Given the description of an element on the screen output the (x, y) to click on. 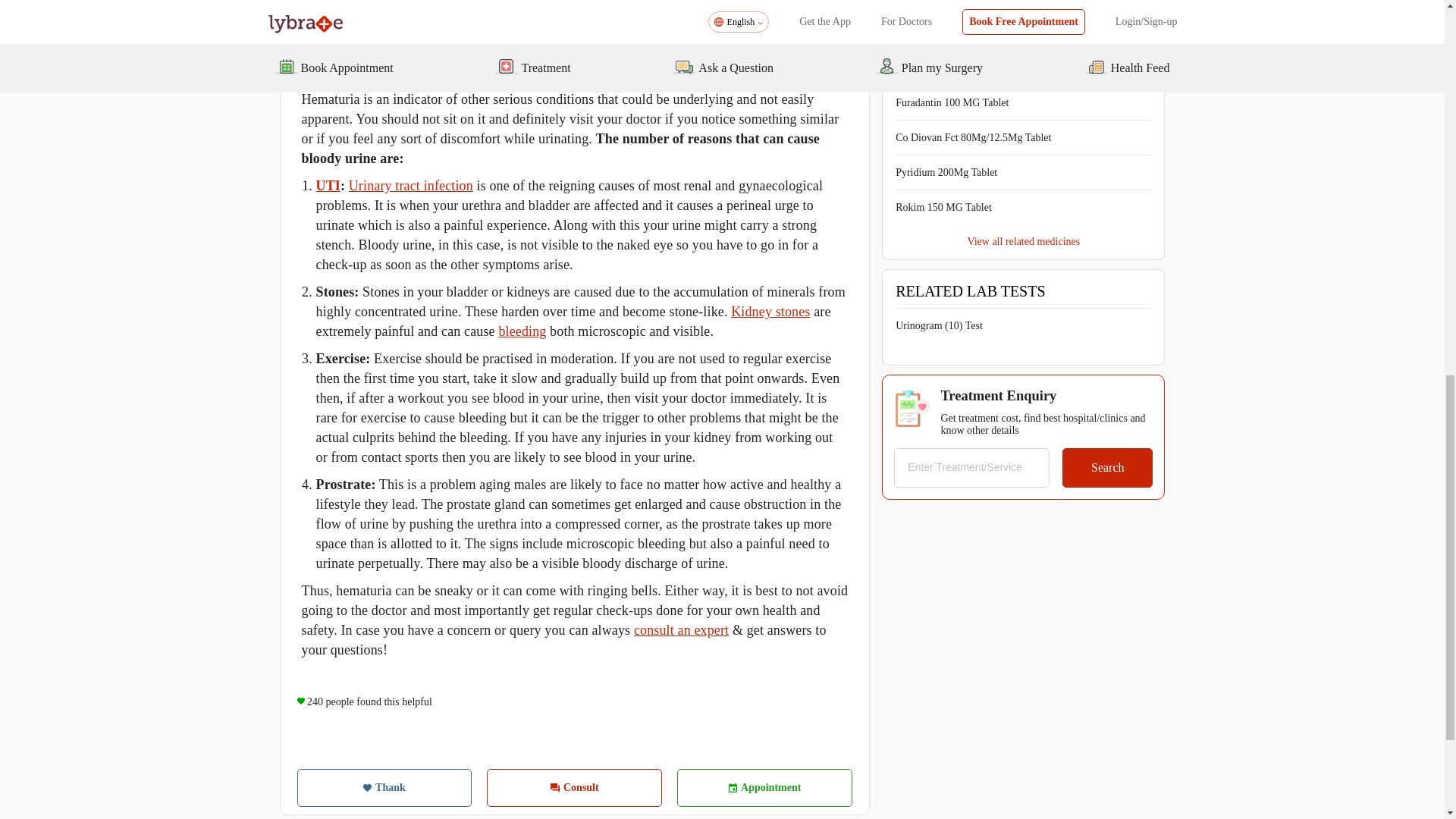
Appointment (764, 787)
Thank (384, 787)
Zifi 50 MG Dry Syrup (943, 32)
Urinary tract infection (411, 185)
Kidney stones (769, 311)
Consult (574, 787)
consult an expert (681, 630)
UTI (327, 185)
bleeding (521, 331)
Ofuxin 200 MG Injection (949, 2)
